Given the description of an element on the screen output the (x, y) to click on. 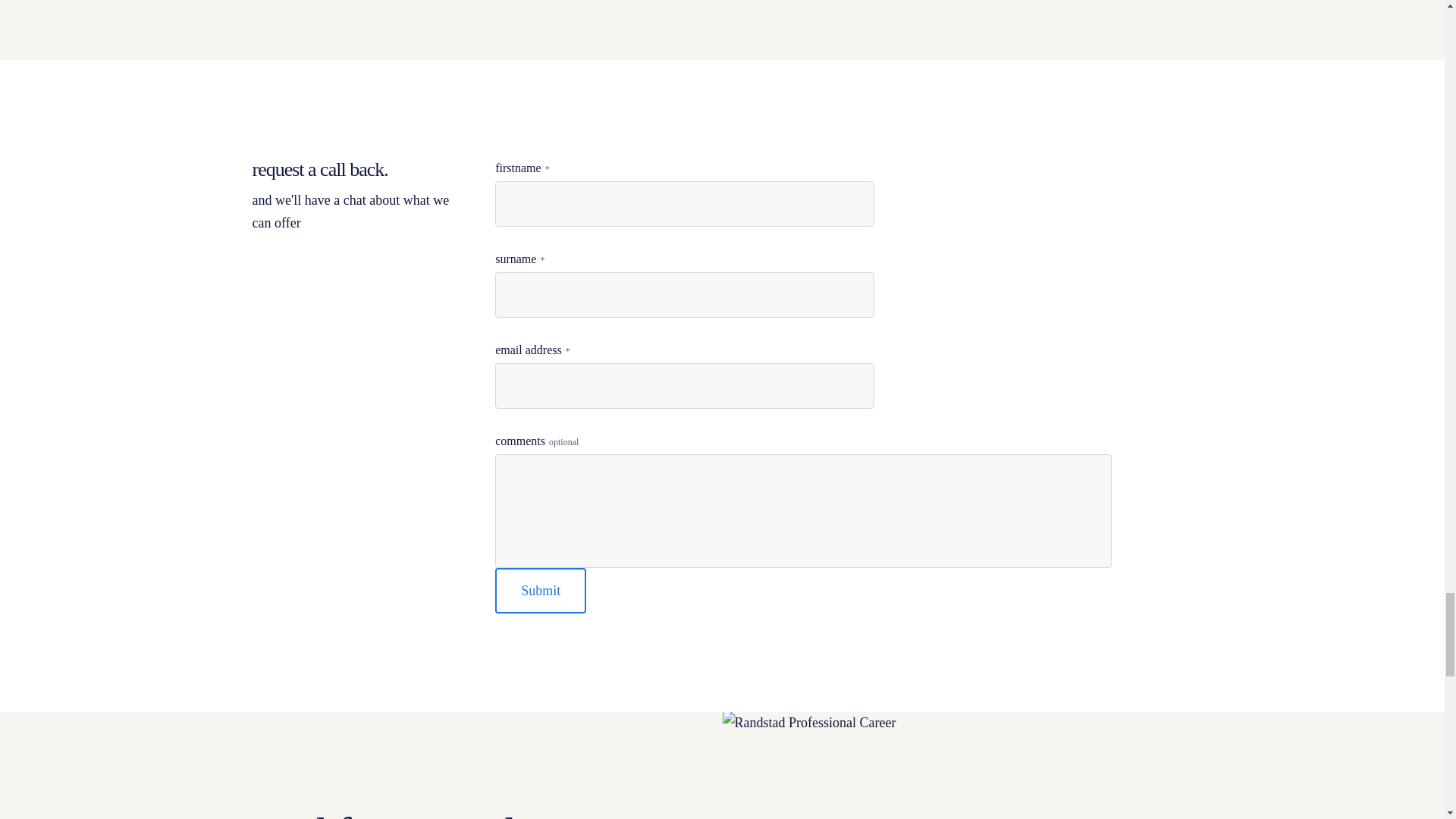
Submit (540, 590)
